Given the description of an element on the screen output the (x, y) to click on. 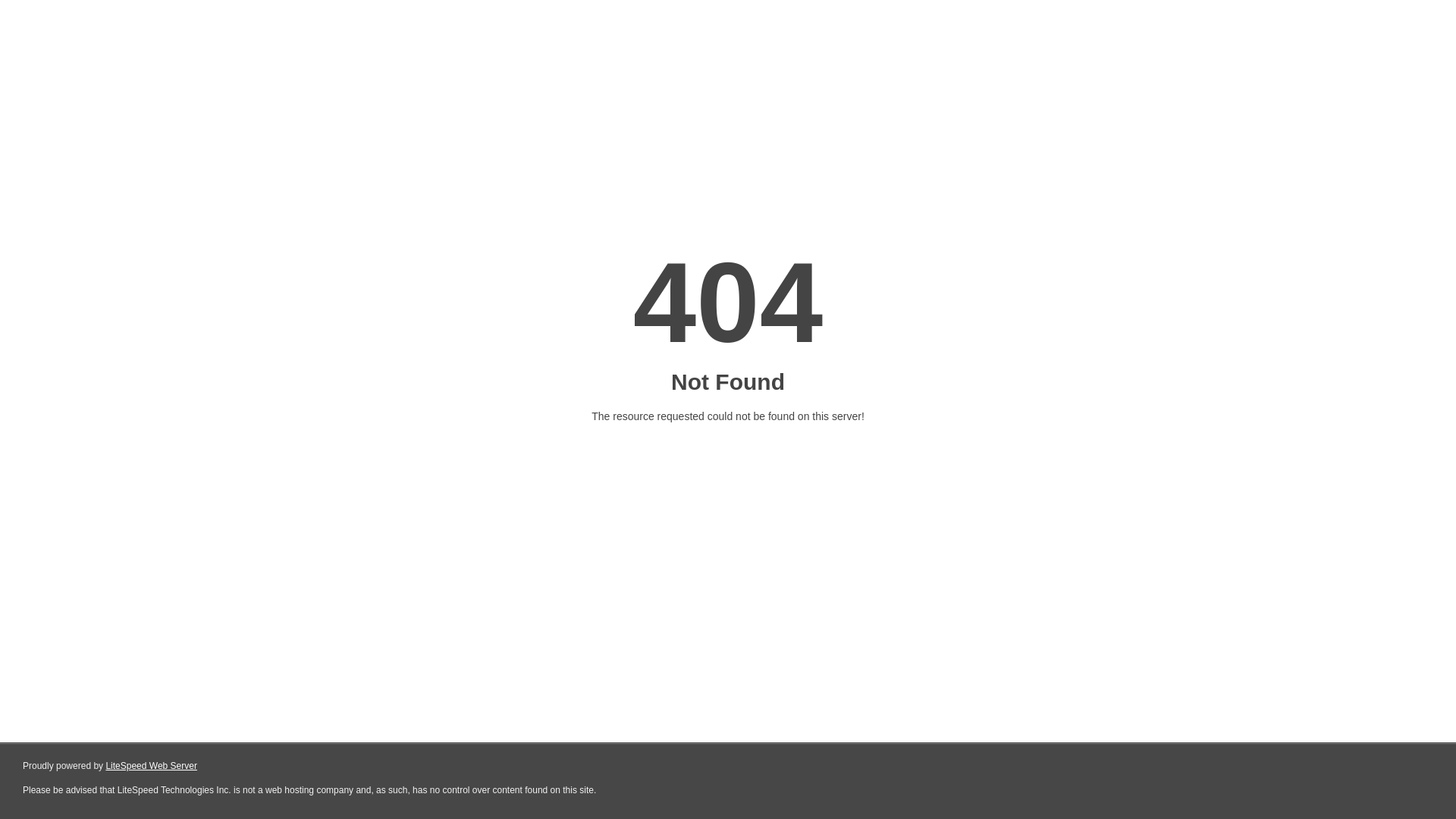
LiteSpeed Web Server Element type: text (151, 765)
